Given the description of an element on the screen output the (x, y) to click on. 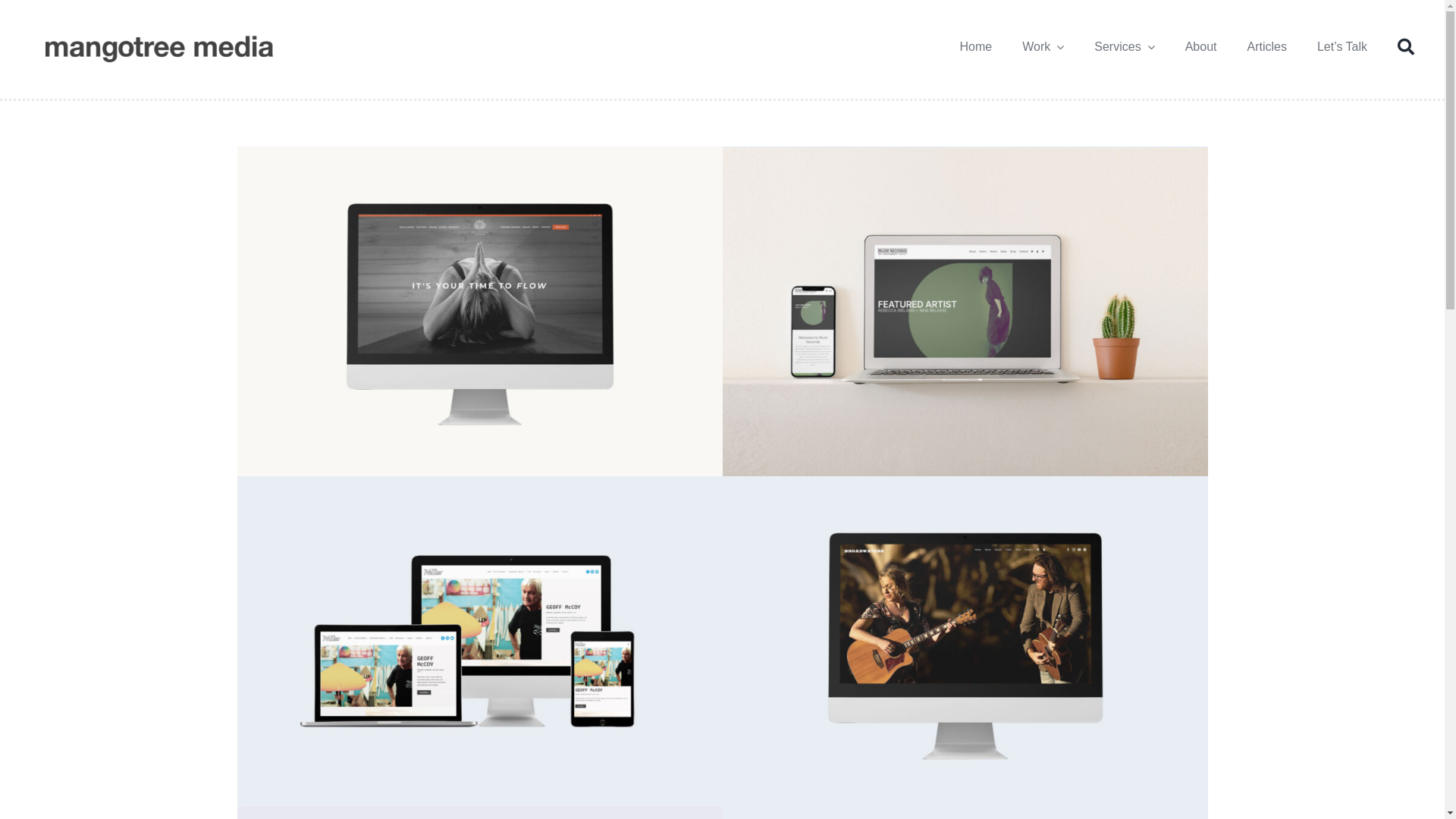
Search Element type: hover (1405, 46)
Articles Element type: text (1266, 46)
About Element type: text (1201, 46)
Home Element type: text (976, 46)
Services Element type: text (1124, 46)
Work Element type: text (1042, 46)
